Given the description of an element on the screen output the (x, y) to click on. 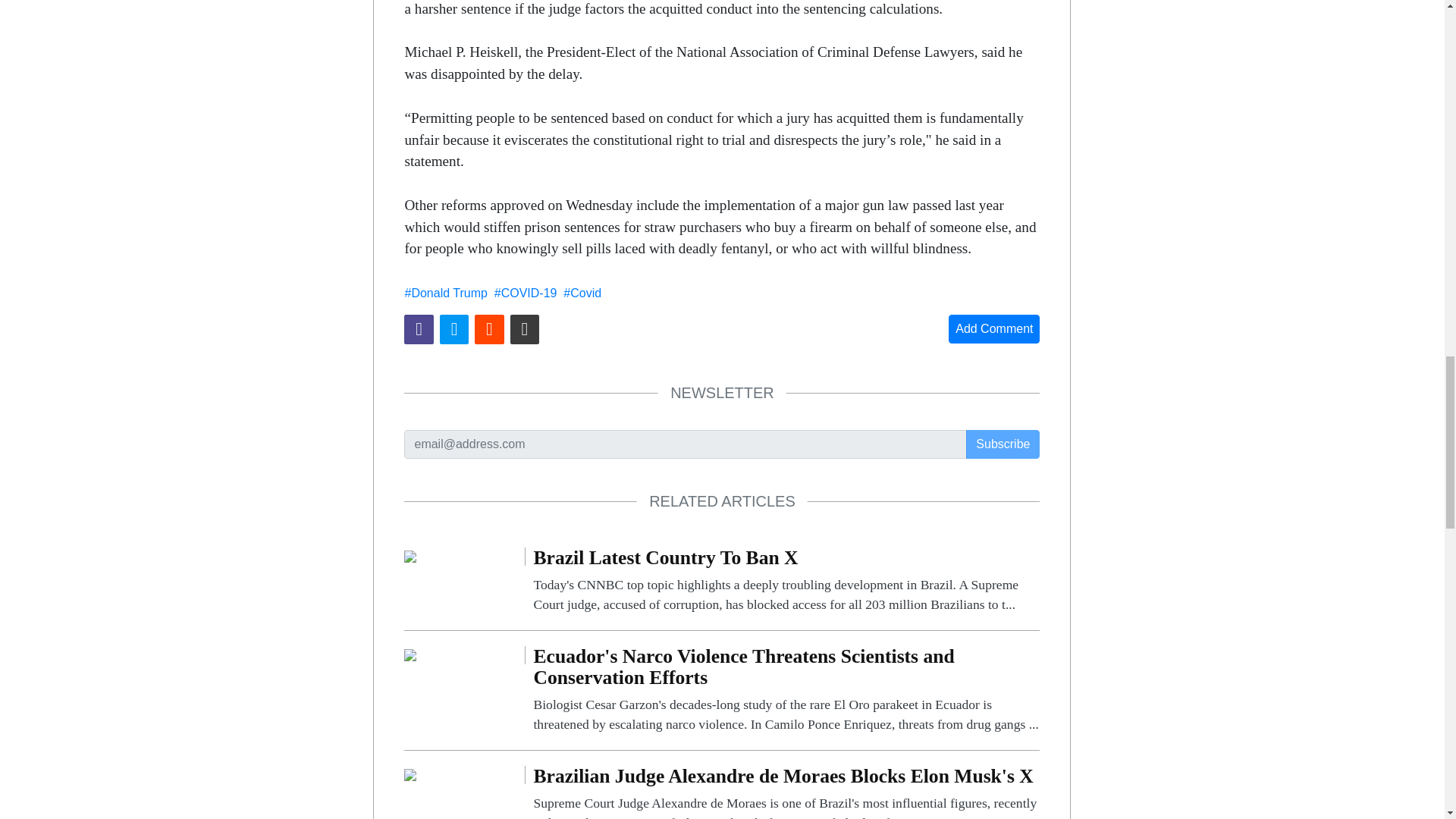
Add Comment (994, 328)
Brazil Latest Country To Ban X (785, 581)
Brazilian Judge Alexandre de Moraes Blocks Elon Musk's X (410, 774)
Subscribe (1002, 443)
Brazilian Judge Alexandre de Moraes Blocks Elon Musk's X (785, 792)
Brazil Latest Country To Ban X (410, 555)
